Given the description of an element on the screen output the (x, y) to click on. 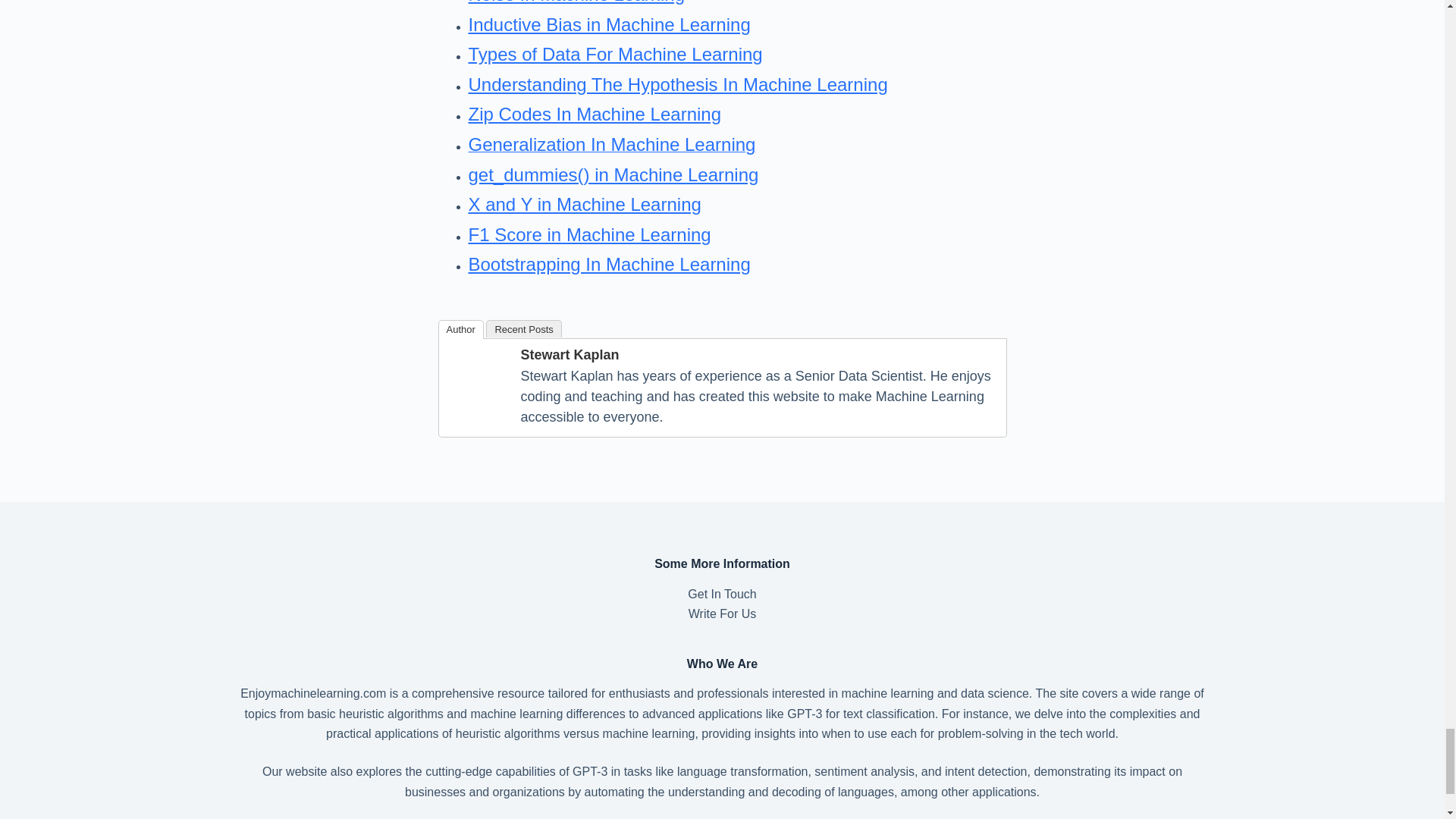
Stewart Kaplan (477, 376)
